Given the description of an element on the screen output the (x, y) to click on. 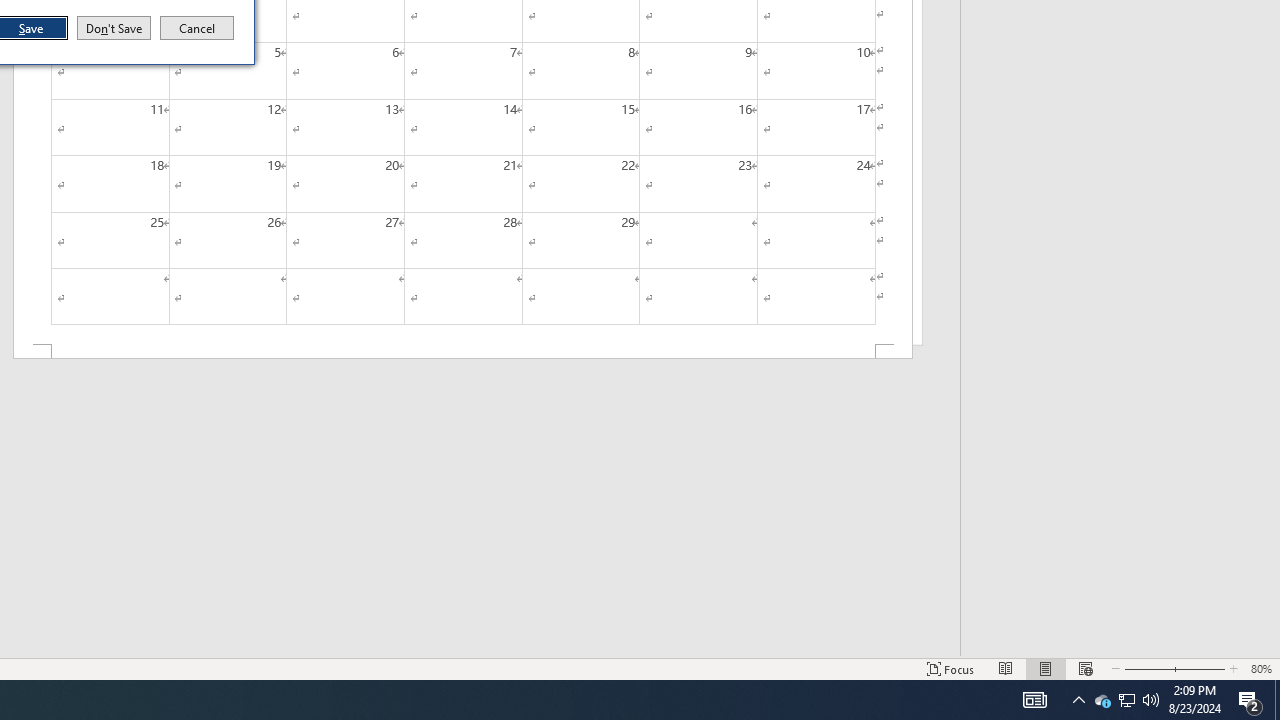
Show desktop (1277, 699)
User Promoted Notification Area (1126, 699)
